Given the description of an element on the screen output the (x, y) to click on. 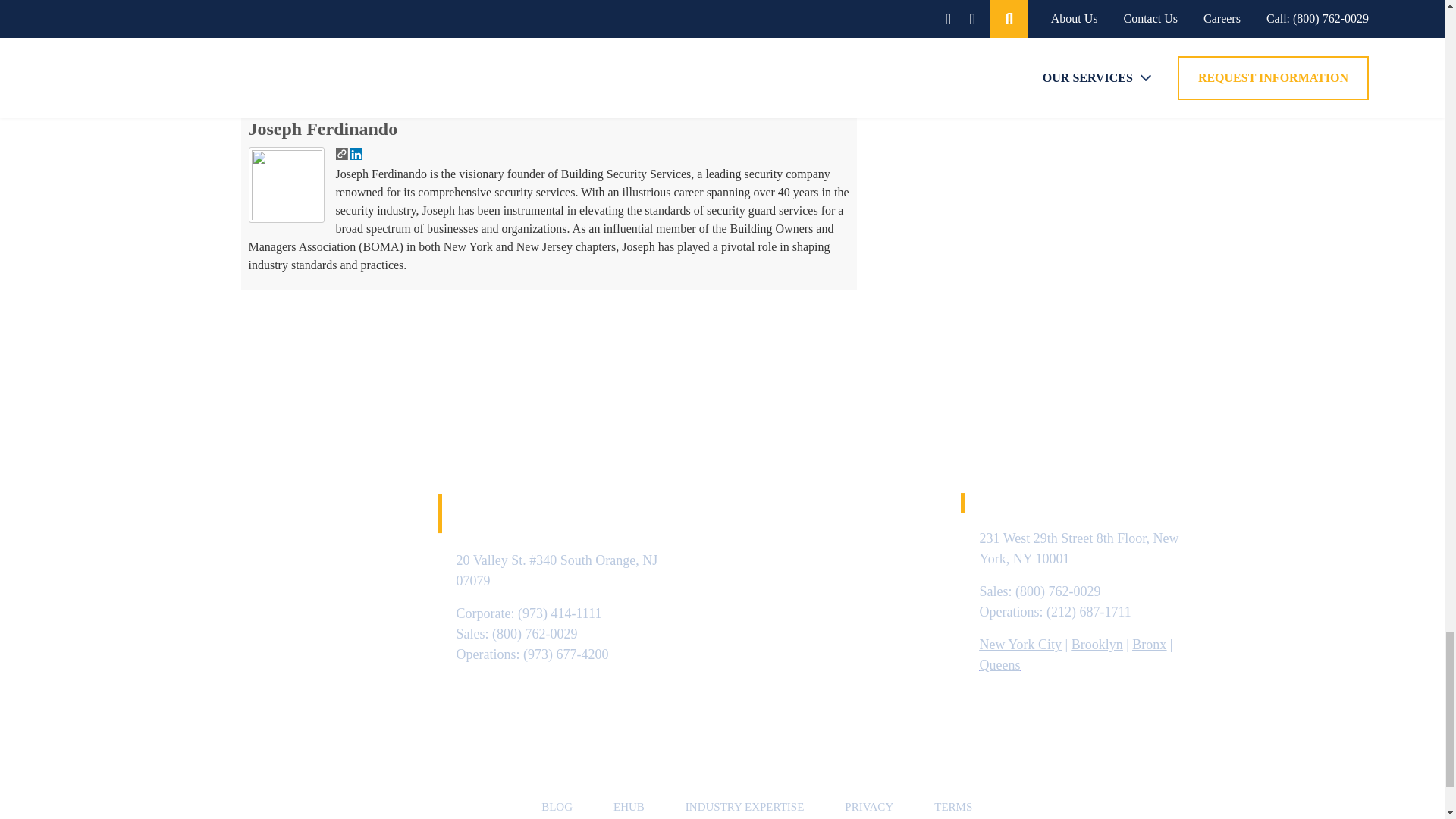
Joseph Ferdinando (322, 128)
All posts by Joseph Ferdinando (322, 128)
